Given the description of an element on the screen output the (x, y) to click on. 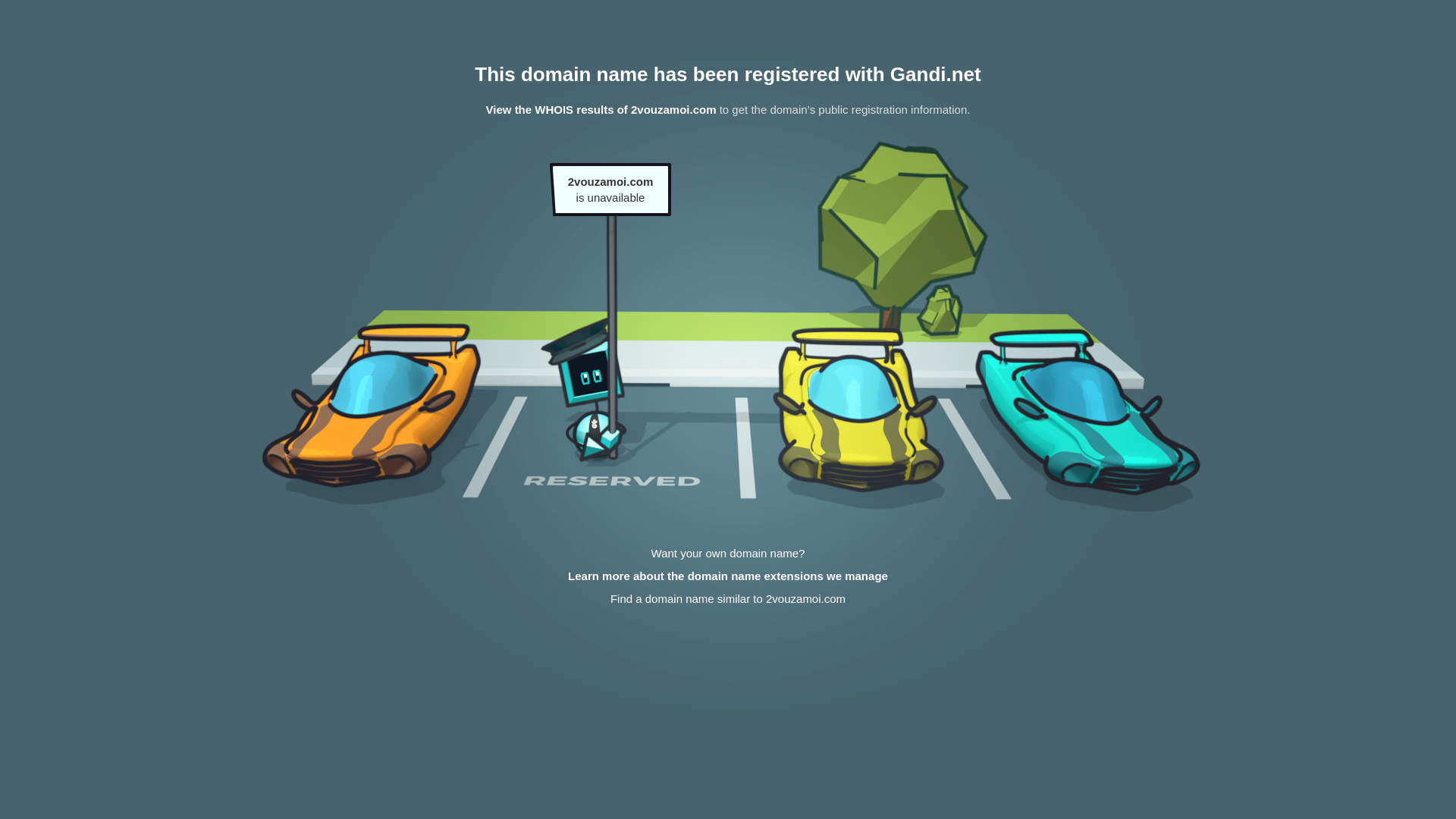
Learn more about the domain name extensions we manage Element type: text (727, 575)
View the WHOIS results of 2vouzamoi.com Element type: text (601, 109)
Find a domain name similar to 2vouzamoi.com Element type: text (727, 598)
